Given the description of an element on the screen output the (x, y) to click on. 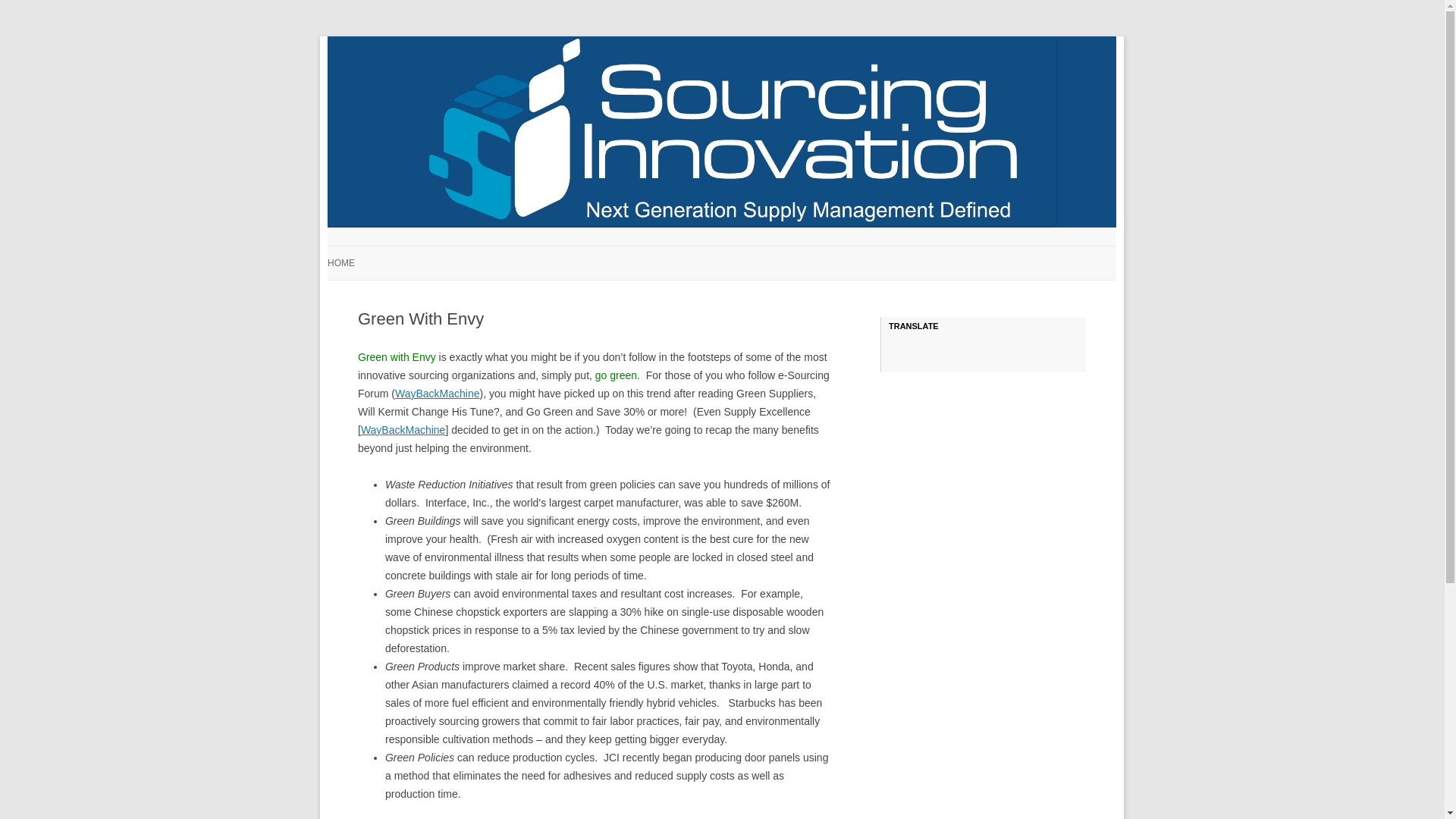
Skip to content (757, 250)
Skip to content (757, 250)
WayBackMachine (403, 429)
WayBackMachine (437, 393)
